Given the description of an element on the screen output the (x, y) to click on. 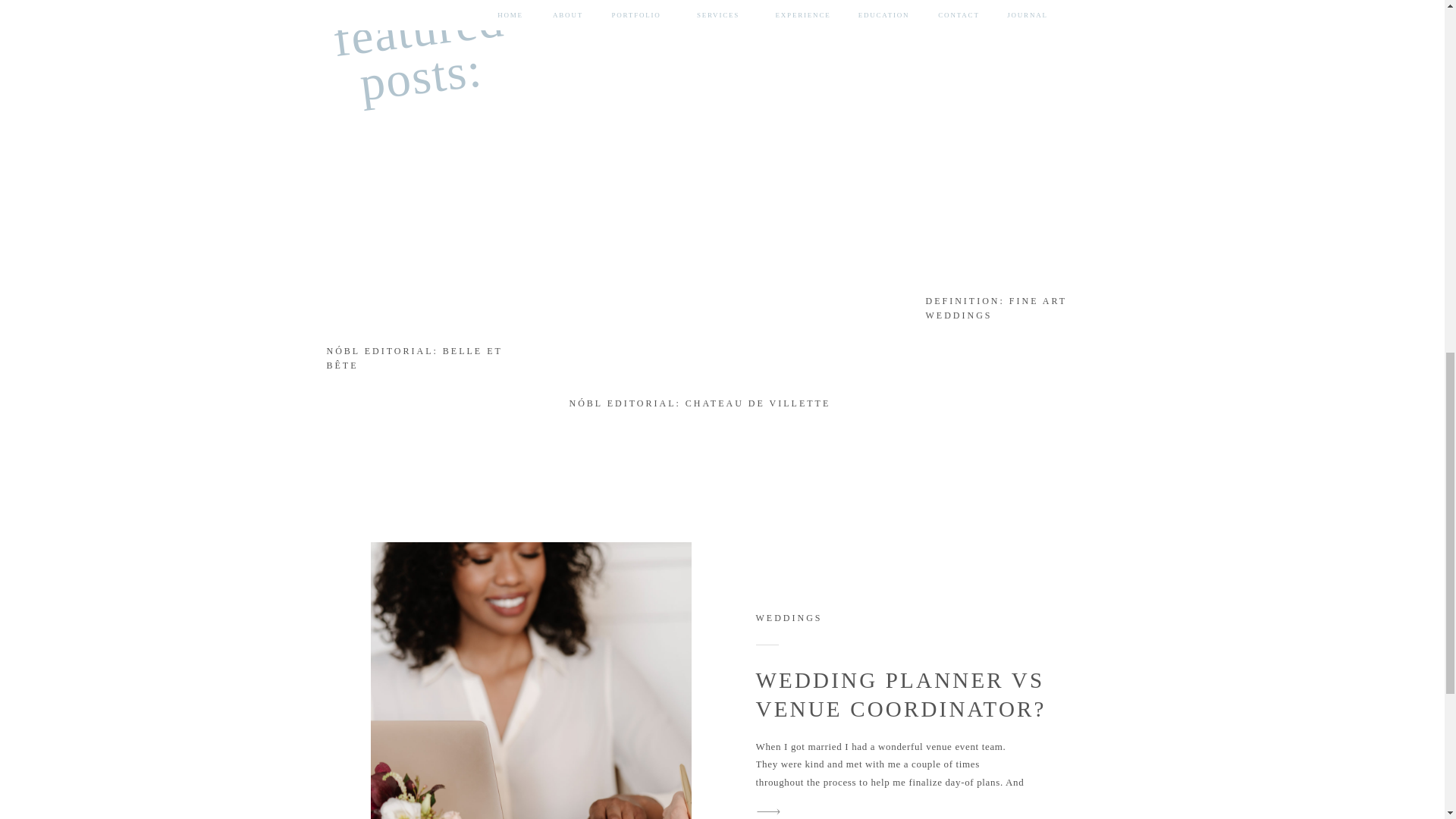
Wedding Planner vs Venue Coordinator? (768, 809)
Wedding Planner vs Venue Coordinator? (529, 680)
arrow (1104, 374)
arrow (768, 809)
